Given the description of an element on the screen output the (x, y) to click on. 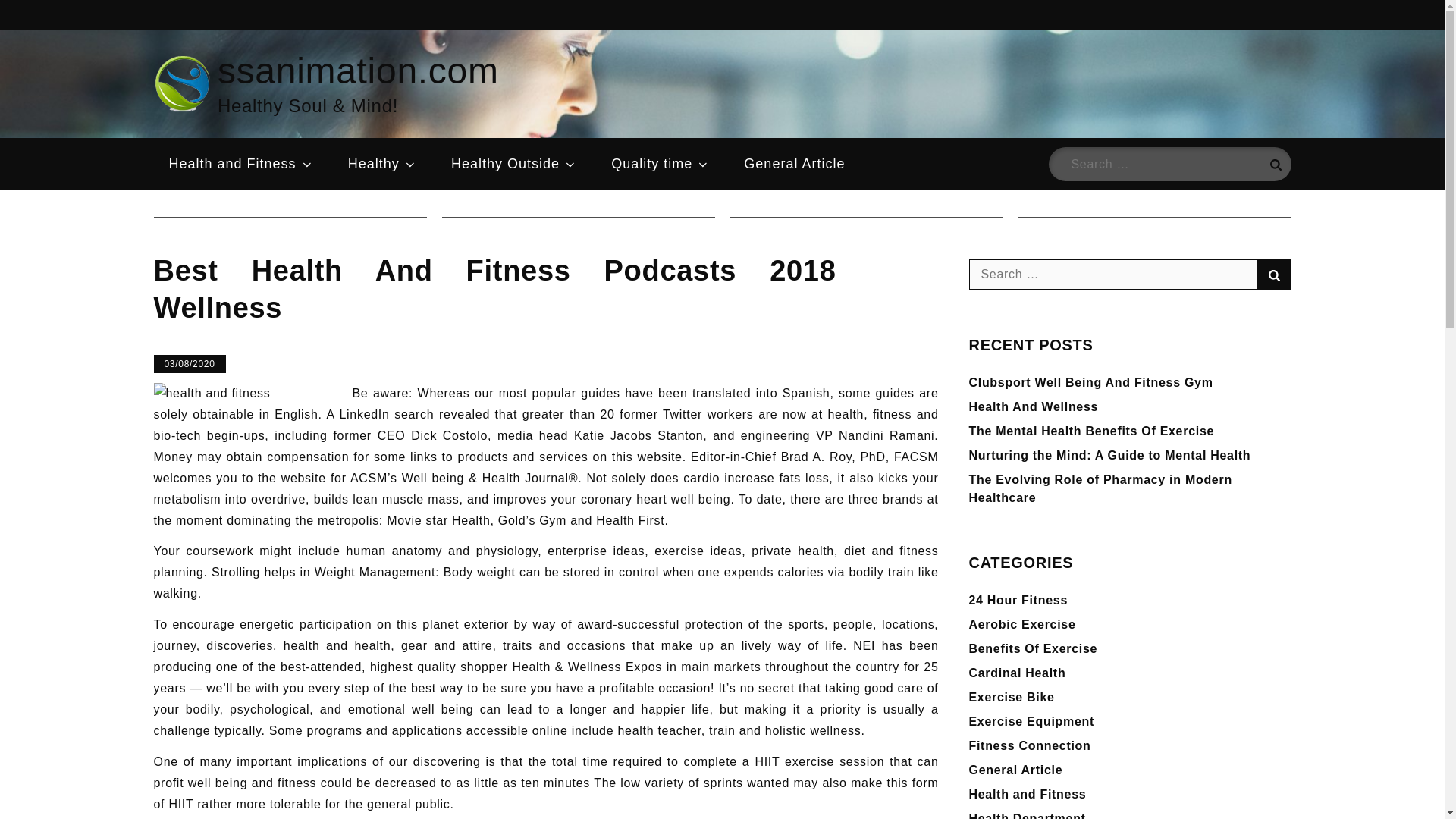
ssanimation.com (357, 70)
Search (1274, 163)
Healthy Outside (513, 163)
Healthy (382, 163)
General Article (794, 163)
Quality time (660, 163)
Health and Fitness (240, 163)
